Given the description of an element on the screen output the (x, y) to click on. 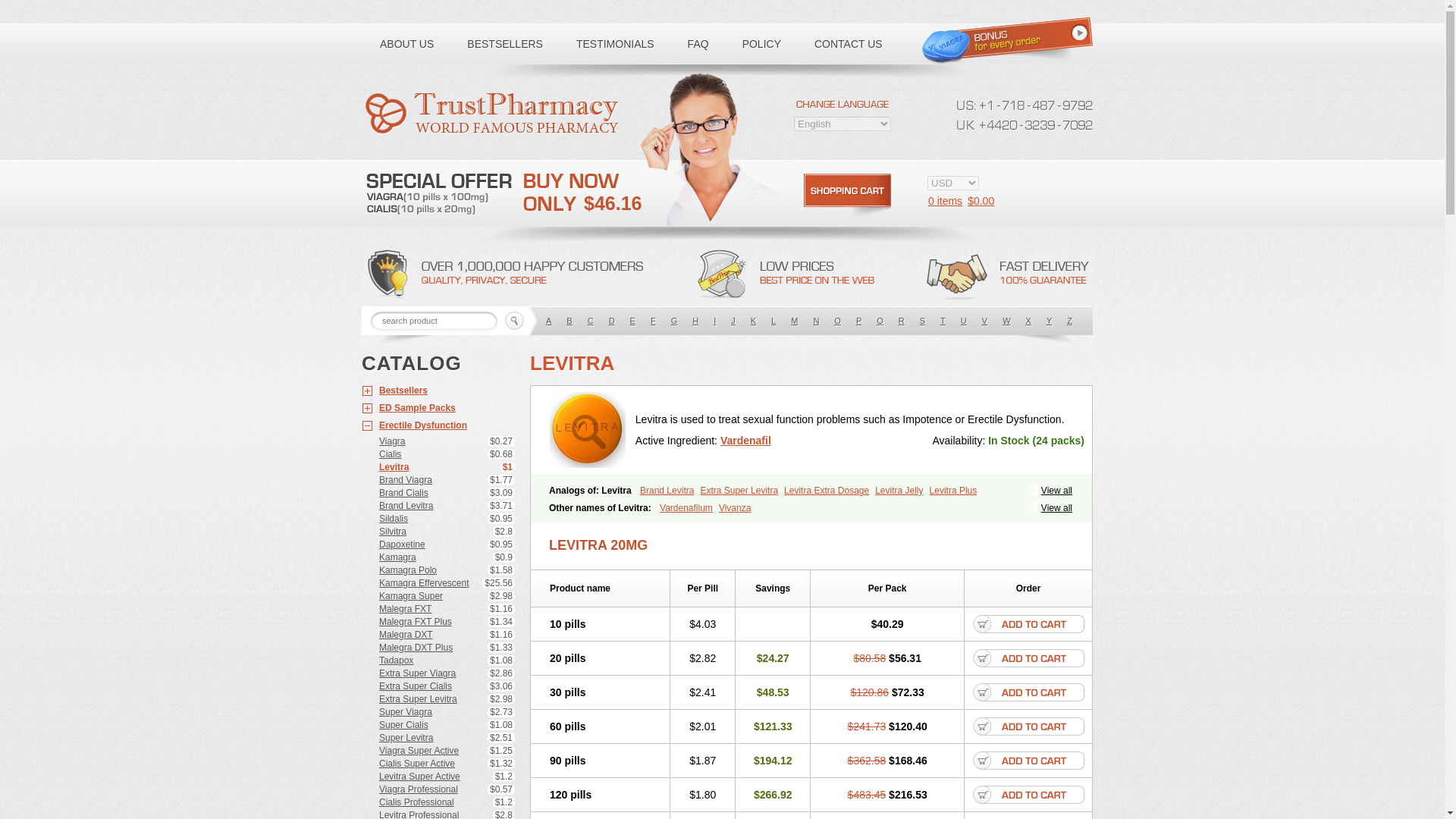
POLICY (761, 43)
ABOUT US (405, 43)
TESTIMONIALS (615, 43)
CONTACT US (848, 43)
Bestsellers (438, 390)
Levitra (588, 429)
BESTSELLERS (504, 43)
FAQ (698, 43)
